Given the description of an element on the screen output the (x, y) to click on. 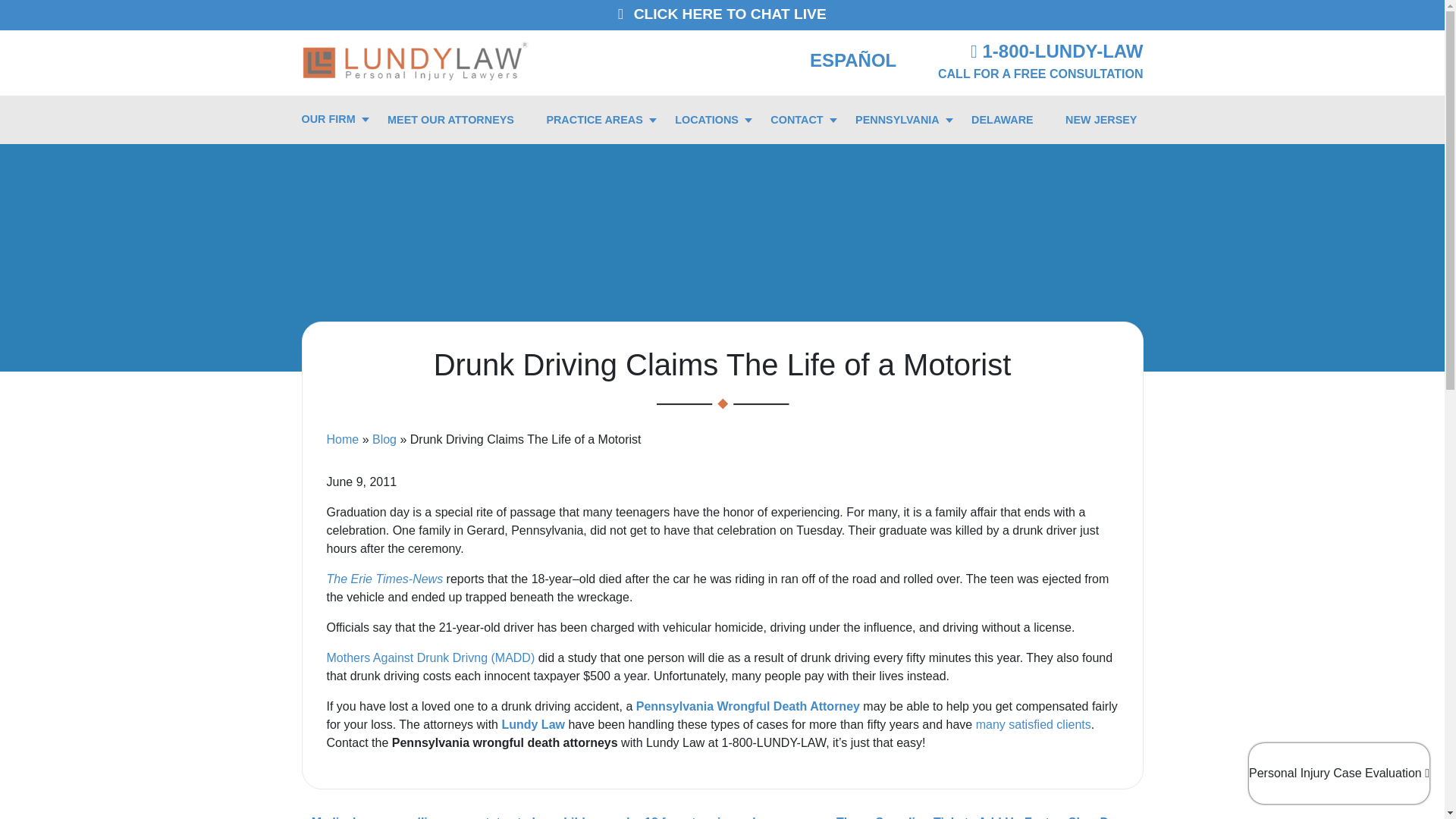
1-800-LUNDY-LAW (1056, 50)
home (415, 59)
Lundy Law Personal Injury Lawyers Logo (415, 60)
CALL FOR A FREE CONSULTATION (1039, 73)
